Given the description of an element on the screen output the (x, y) to click on. 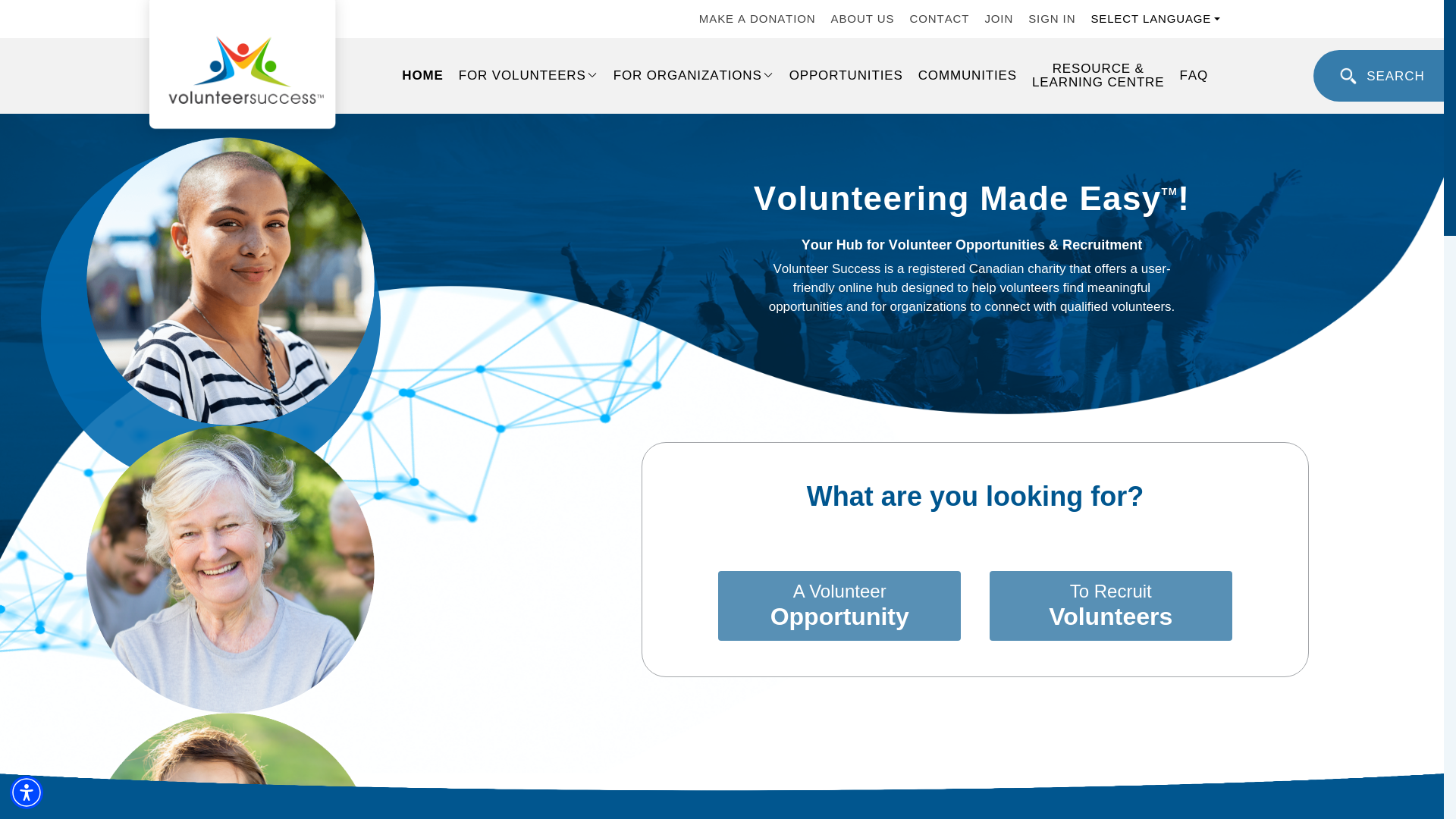
ABOUT US (863, 19)
CONTACT (939, 19)
SELECT LANGUAGE (1155, 18)
Accessibility Menu (26, 792)
MAKE A DONATION (756, 19)
SIGN IN (1051, 19)
JOIN (998, 19)
